Given the description of an element on the screen output the (x, y) to click on. 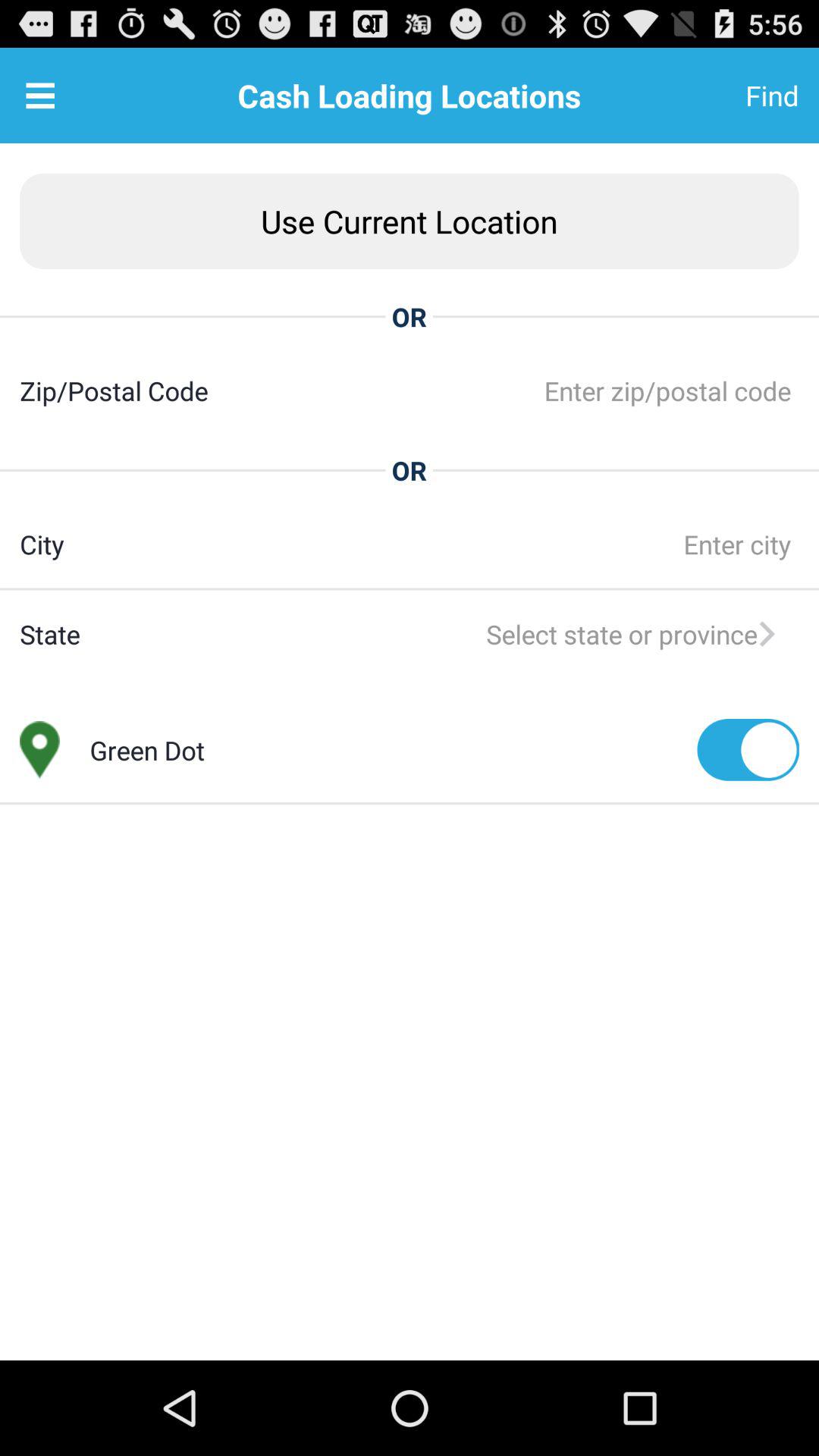
launch the button above use current location icon (735, 95)
